Given the description of an element on the screen output the (x, y) to click on. 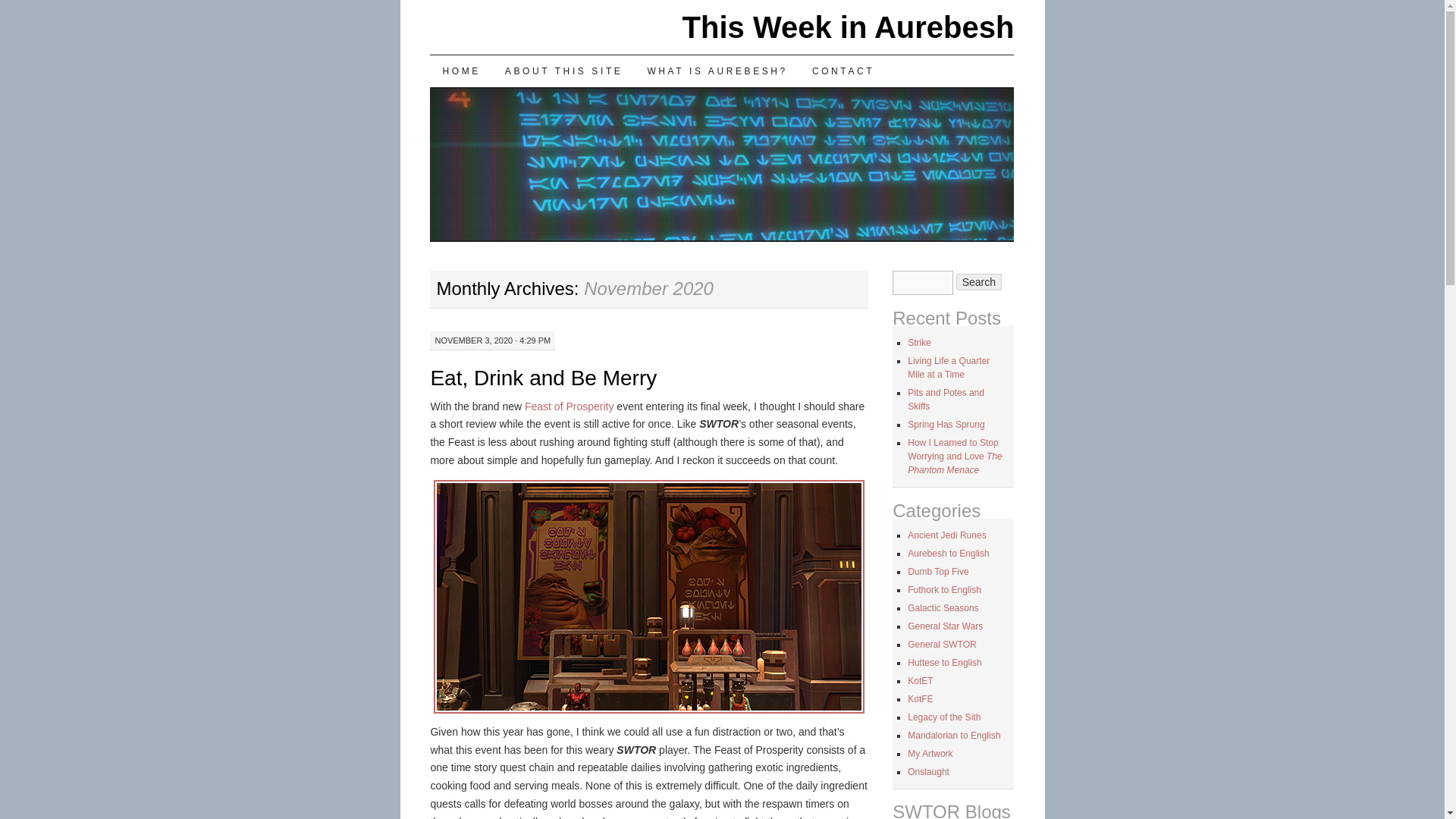
Feast of Prosperity (569, 406)
Futhork to English (944, 589)
Pits and Potes and Skiffs (945, 399)
General SWTOR (941, 644)
Ancient Jedi Runes (946, 534)
KotFE (920, 698)
This Week in Aurebesh (848, 27)
Living Life a Quarter Mile at a Time (948, 367)
Eat, Drink and Be Merry (542, 377)
Huttese to English (944, 662)
This Week in Aurebesh (848, 27)
KotET (920, 680)
Skip to content (440, 101)
Search (978, 281)
Search (978, 281)
